Given the description of an element on the screen output the (x, y) to click on. 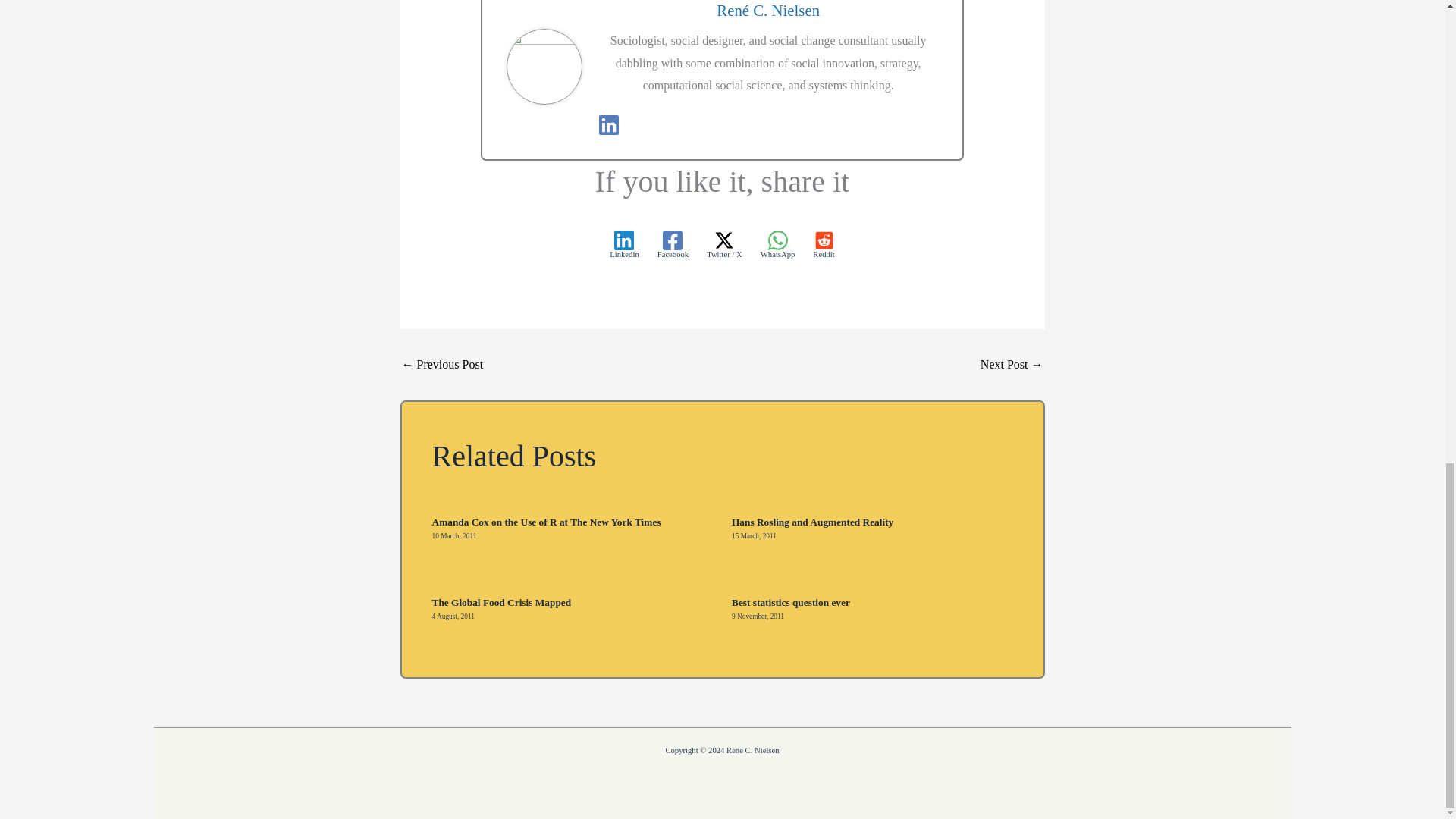
The Global Food Crisis Mapped (502, 602)
Paul Conneally: Digital humanitarianism (442, 364)
Amanda Cox on the Use of R at The New York Times (546, 521)
Jer Thorp on Data ... and a little history (1011, 364)
WhatsApp (777, 244)
Hans Rosling and Augmented Reality (812, 521)
Best statistics question ever (791, 602)
Facebook (673, 244)
Linkedin (624, 244)
